Given the description of an element on the screen output the (x, y) to click on. 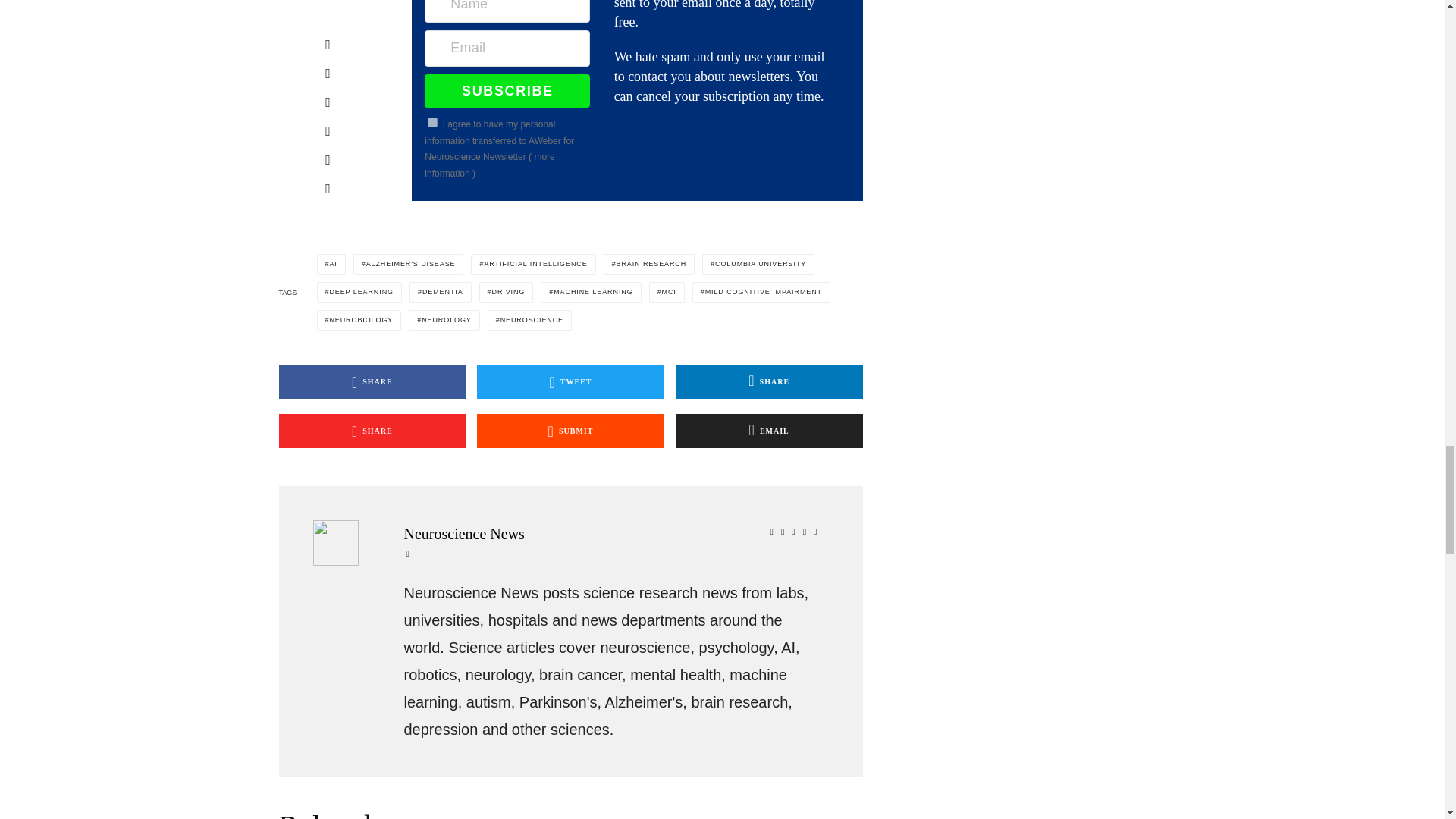
TWEET (570, 381)
NEUROBIOLOGY (359, 320)
DEMENTIA (440, 291)
SUBMIT (570, 430)
NEUROLOGY (444, 320)
ALZHEIMER'S DISEASE (408, 263)
SUBSCRIBE (507, 90)
more information (489, 165)
BRAIN RESEARCH (649, 263)
ARTIFICIAL INTELLIGENCE (532, 263)
